Given the description of an element on the screen output the (x, y) to click on. 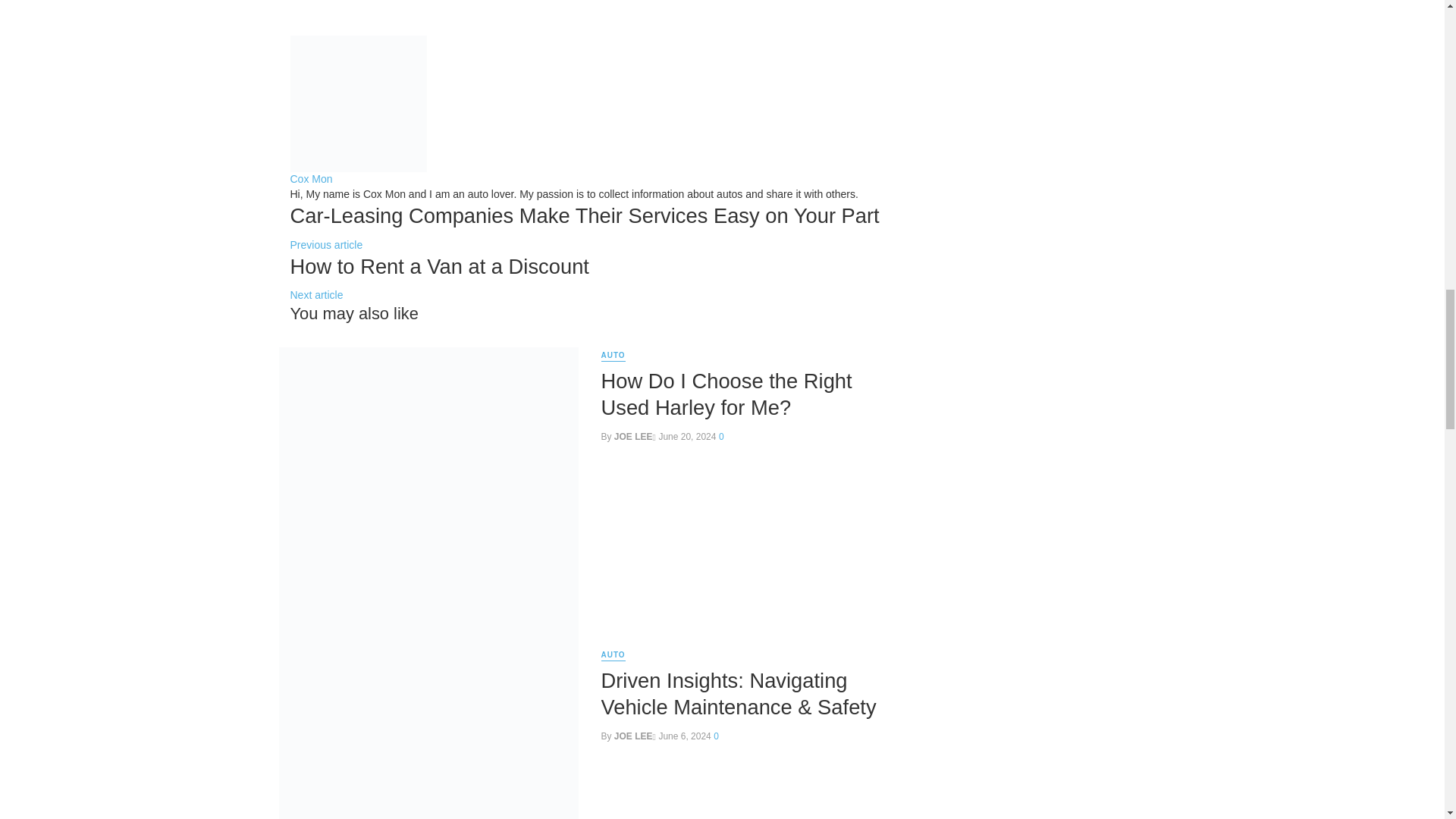
AUTO (611, 355)
Previous article (325, 244)
Cox Mon (310, 178)
Next article (315, 295)
